Given the description of an element on the screen output the (x, y) to click on. 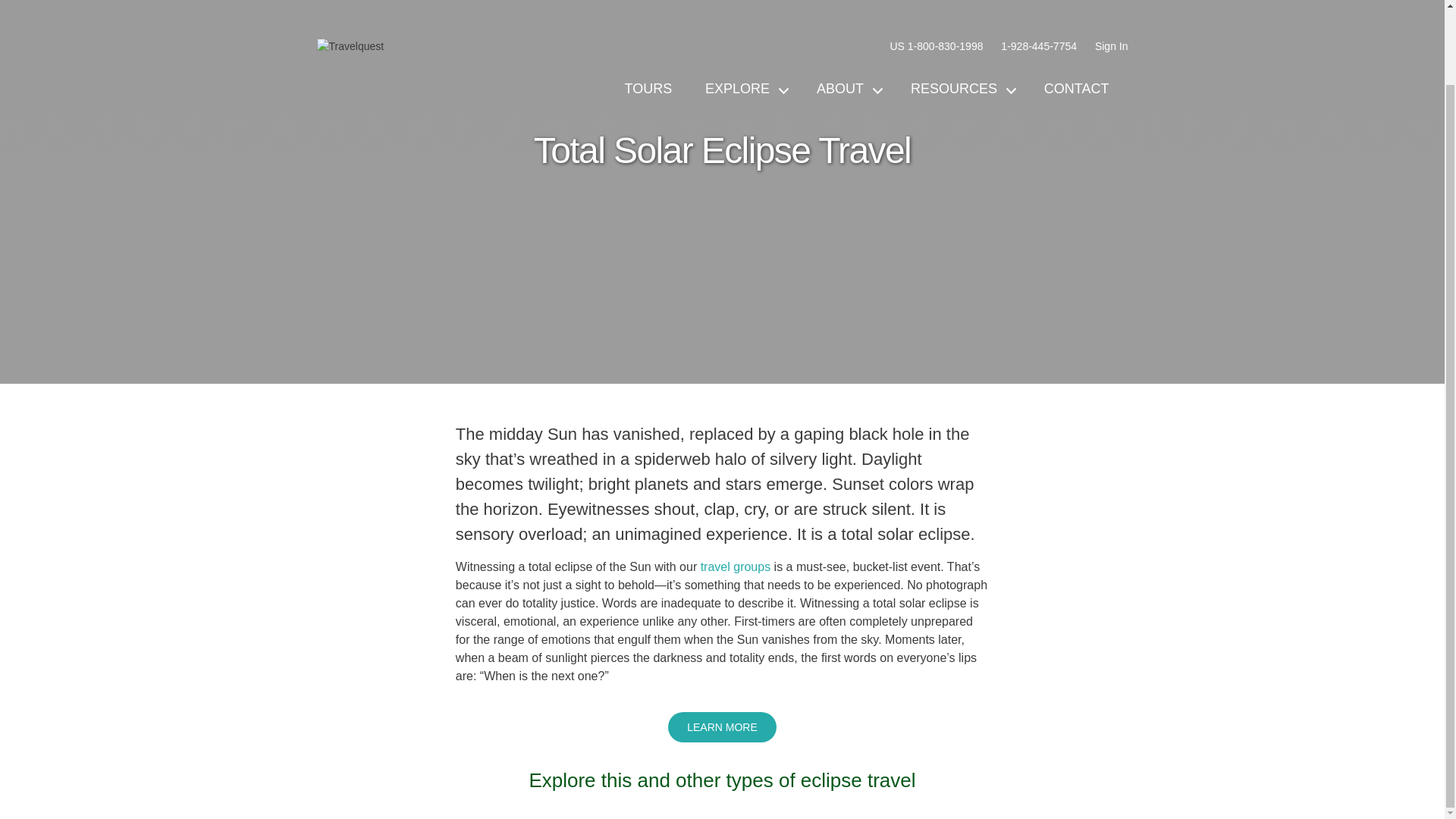
LEARN MORE (722, 726)
travel groups (735, 566)
EXPLORE (744, 11)
CONTACT (1076, 11)
ABOUT (846, 11)
RESOURCES (960, 11)
TOURS (647, 11)
